Given the description of an element on the screen output the (x, y) to click on. 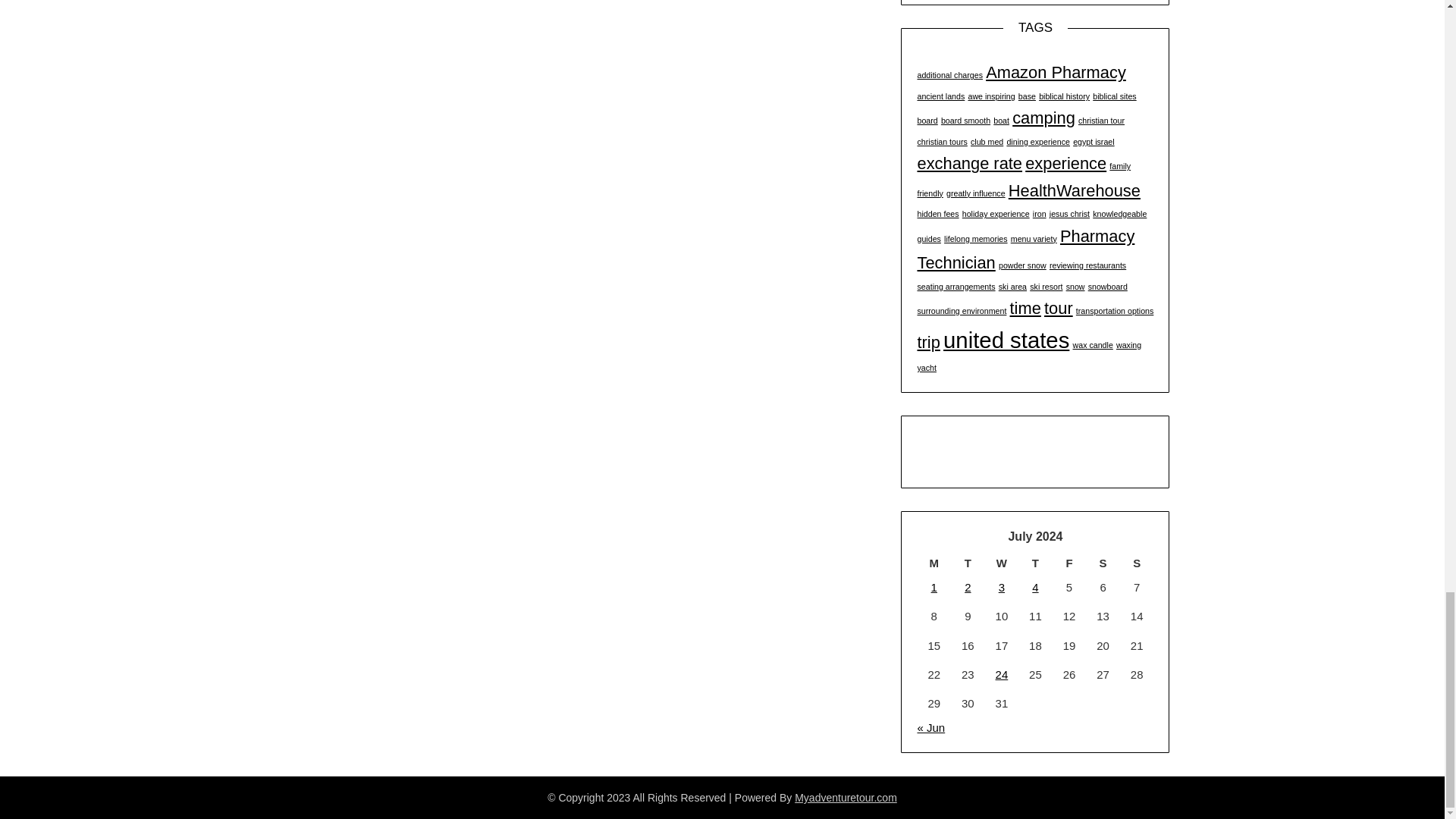
Saturday (1102, 563)
Thursday (1034, 563)
Friday (1069, 563)
Sunday (1136, 563)
Wednesday (1002, 563)
Tuesday (967, 563)
Monday (933, 563)
